Given the description of an element on the screen output the (x, y) to click on. 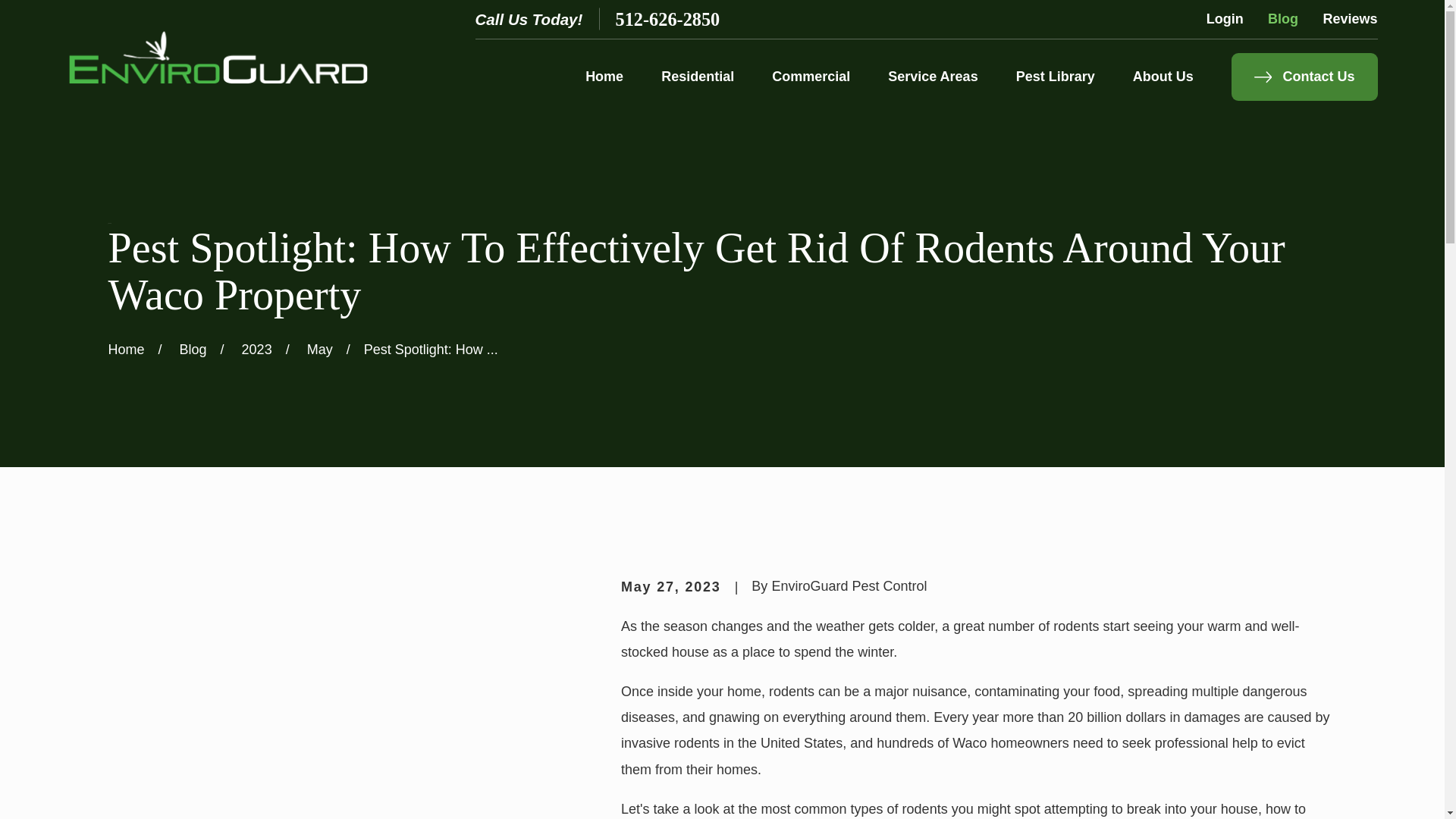
Service Areas (932, 76)
Pest Library (1055, 76)
Commercial (810, 76)
Blog (1283, 18)
Residential (697, 76)
Reviews (1349, 18)
512-626-2850 (667, 19)
Login (1225, 18)
Go Home (125, 349)
Home (217, 57)
